Given the description of an element on the screen output the (x, y) to click on. 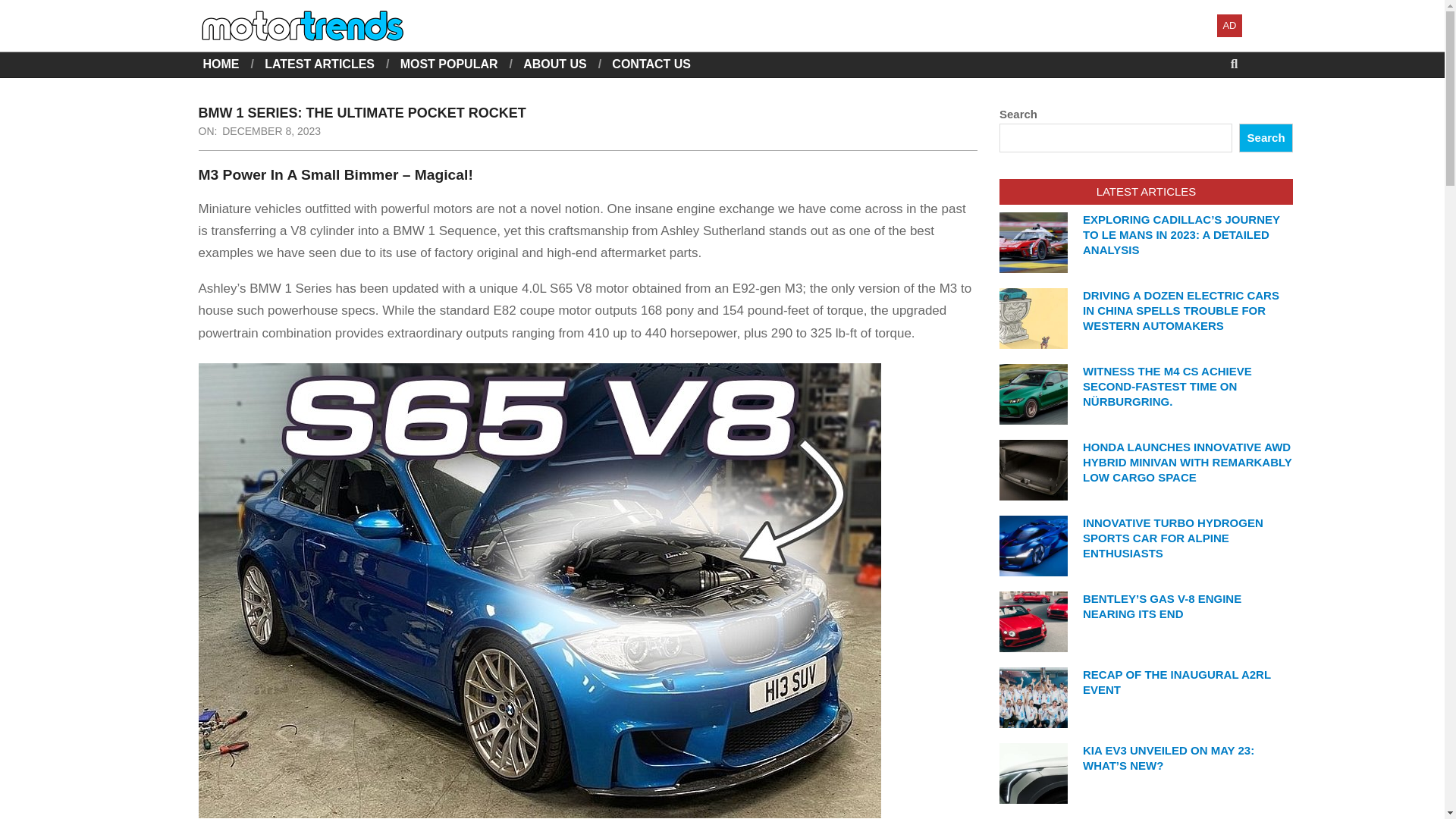
MOST POPULAR (448, 63)
Search (24, 9)
ABOUT US (554, 63)
INNOVATIVE TURBO HYDROGEN SPORTS CAR FOR ALPINE ENTHUSIASTS (1173, 537)
CONTACT US (650, 63)
HOME (221, 63)
Search (1265, 137)
Friday, December 8, 2023, 9:10 pm (271, 131)
RECAP OF THE INAUGURAL A2RL EVENT (1177, 682)
LATEST ARTICLES (319, 63)
